Given the description of an element on the screen output the (x, y) to click on. 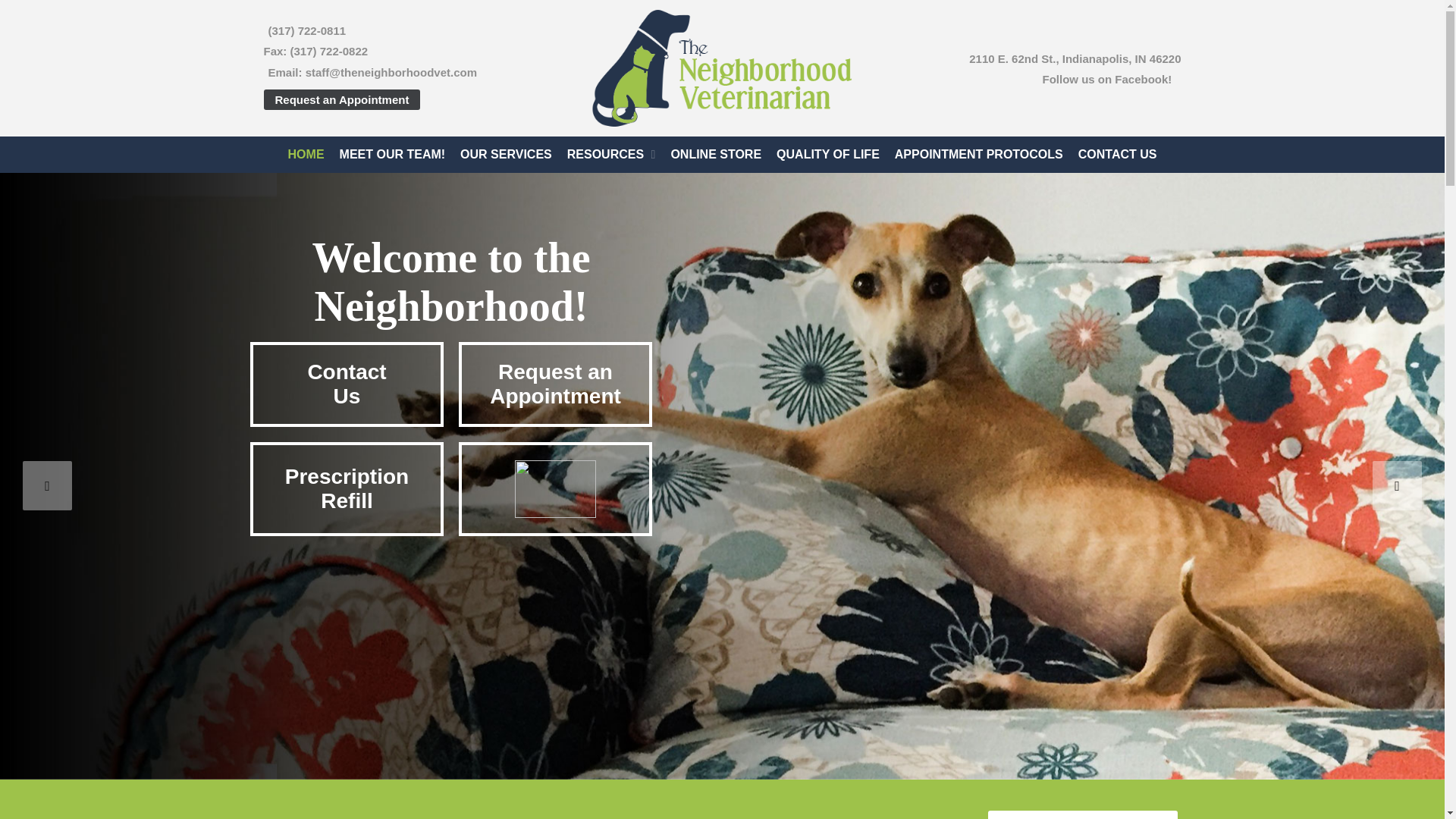
APPOINTMENT PROTOCOLS (978, 154)
Prescription Refill (347, 489)
ONLINE STORE (715, 154)
Next (1397, 485)
OUR SERVICES (505, 154)
RESOURCES (611, 154)
Request an Appointment (555, 384)
Request an Appointment (341, 99)
Request an Appointment (1081, 814)
HOME (306, 154)
Previous (47, 485)
QUALITY OF LIFE (827, 154)
MEET OUR TEAM! (347, 384)
CONTACT US (391, 154)
